Given the description of an element on the screen output the (x, y) to click on. 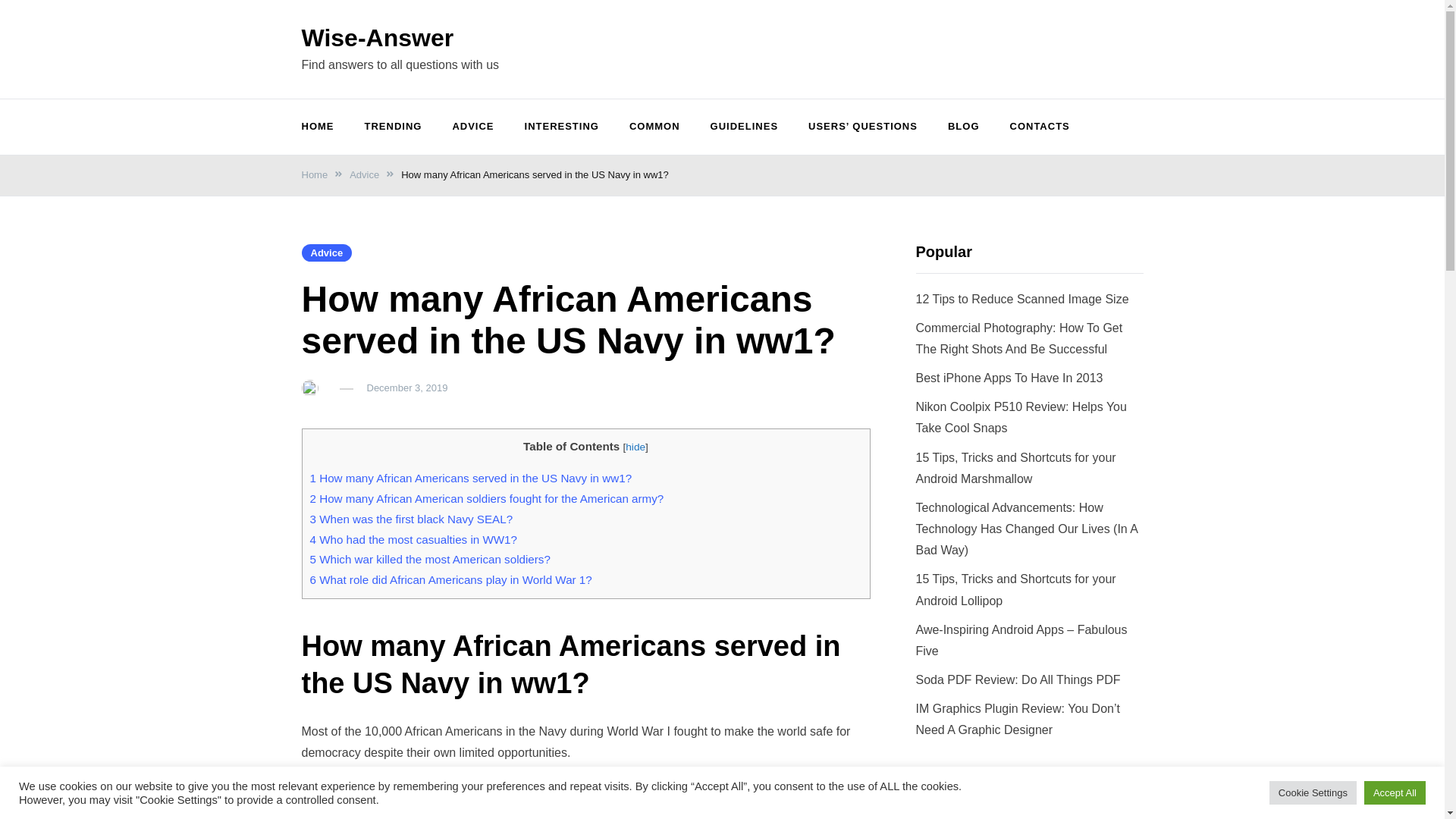
GUIDELINES (744, 126)
Home (315, 174)
Advice (363, 174)
1 How many African Americans served in the US Navy in ww1? (469, 477)
CONTACTS (1039, 126)
4 Who had the most casualties in WW1? (412, 538)
BLOG (963, 126)
12 Tips to Reduce Scanned Image Size (1022, 298)
hide (635, 446)
3 When was the first black Navy SEAL? (410, 518)
